Given the description of an element on the screen output the (x, y) to click on. 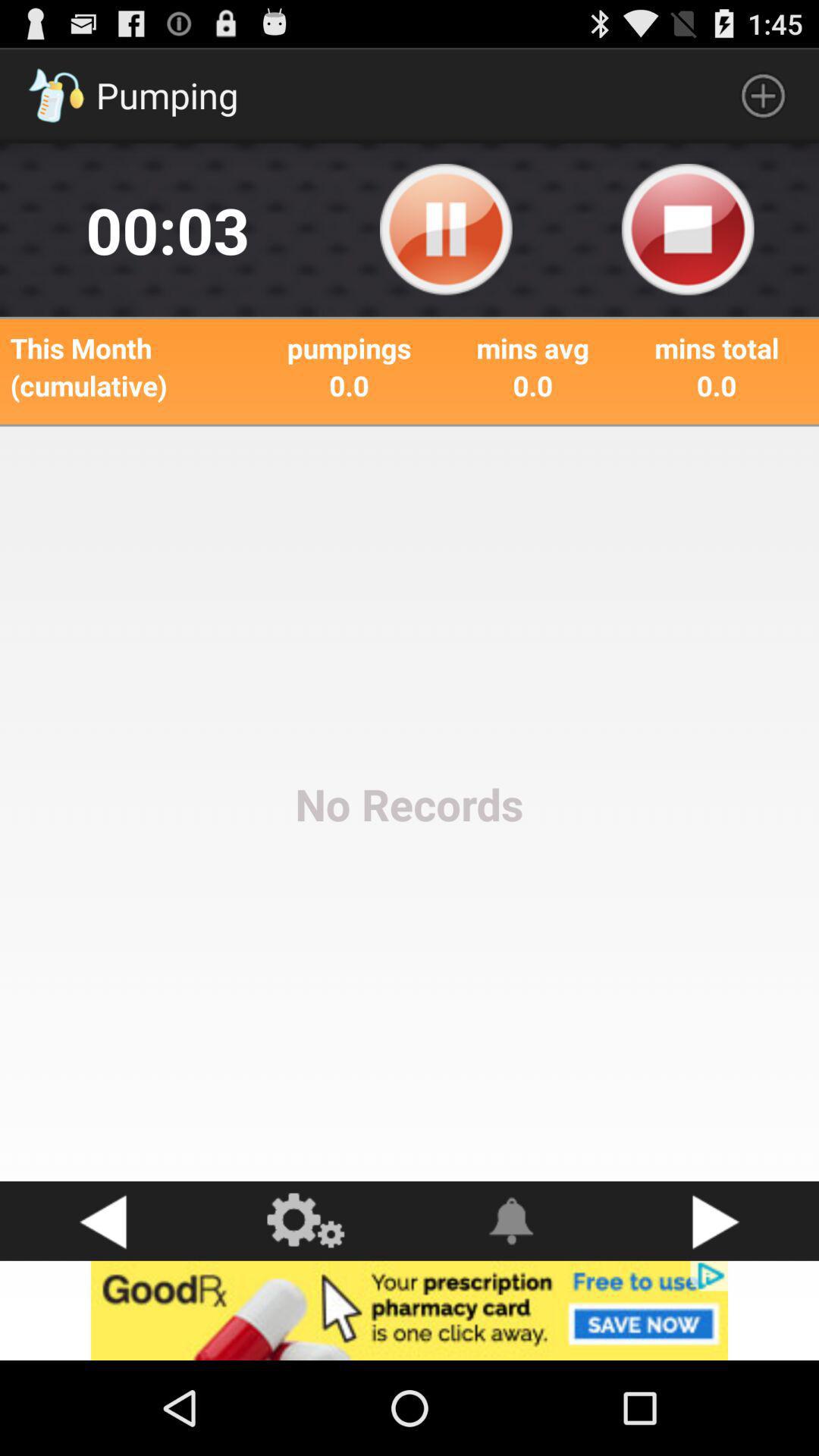
advertisement banner (409, 1310)
